Given the description of an element on the screen output the (x, y) to click on. 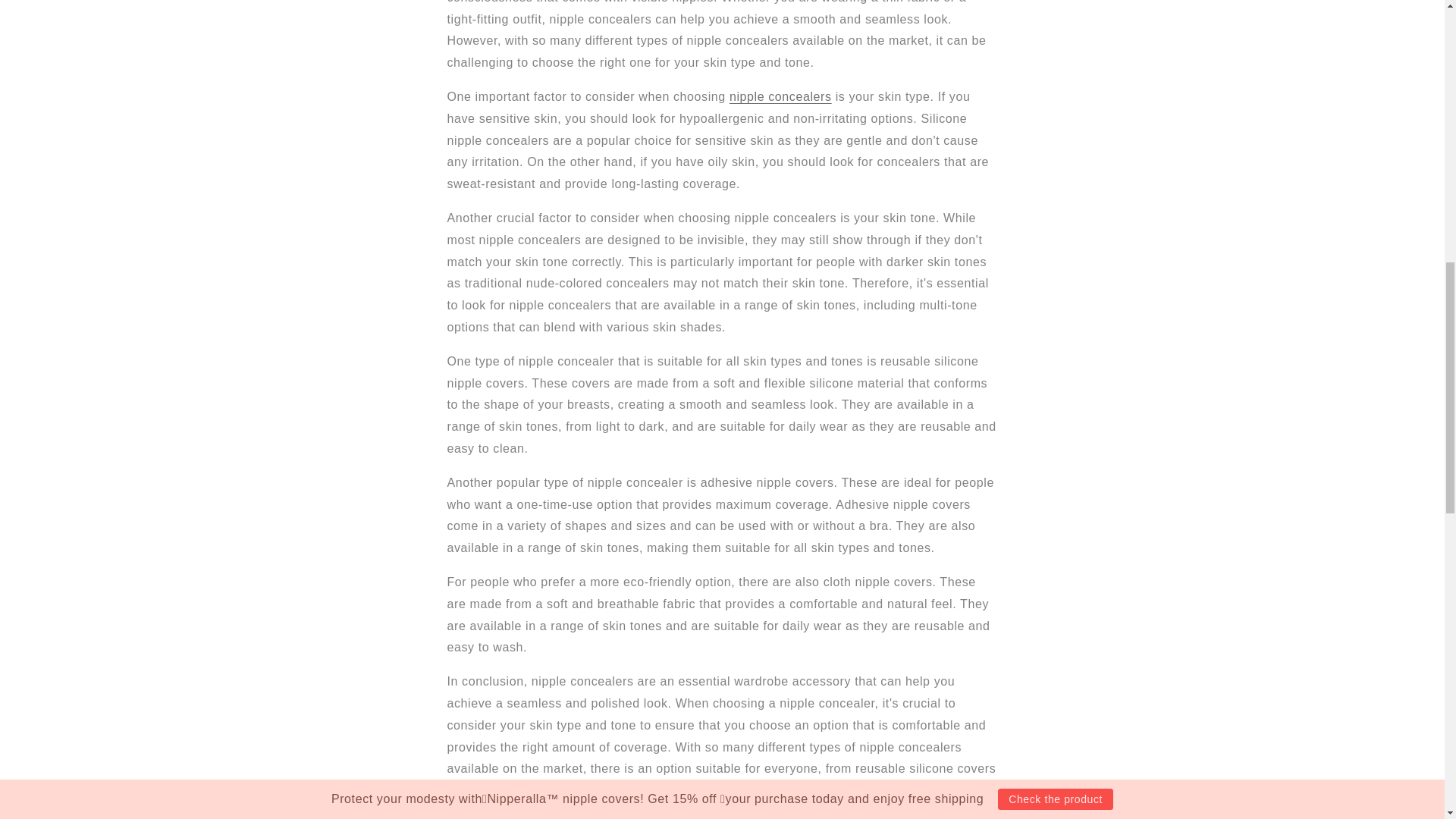
nipple concealers (780, 96)
